Given the description of an element on the screen output the (x, y) to click on. 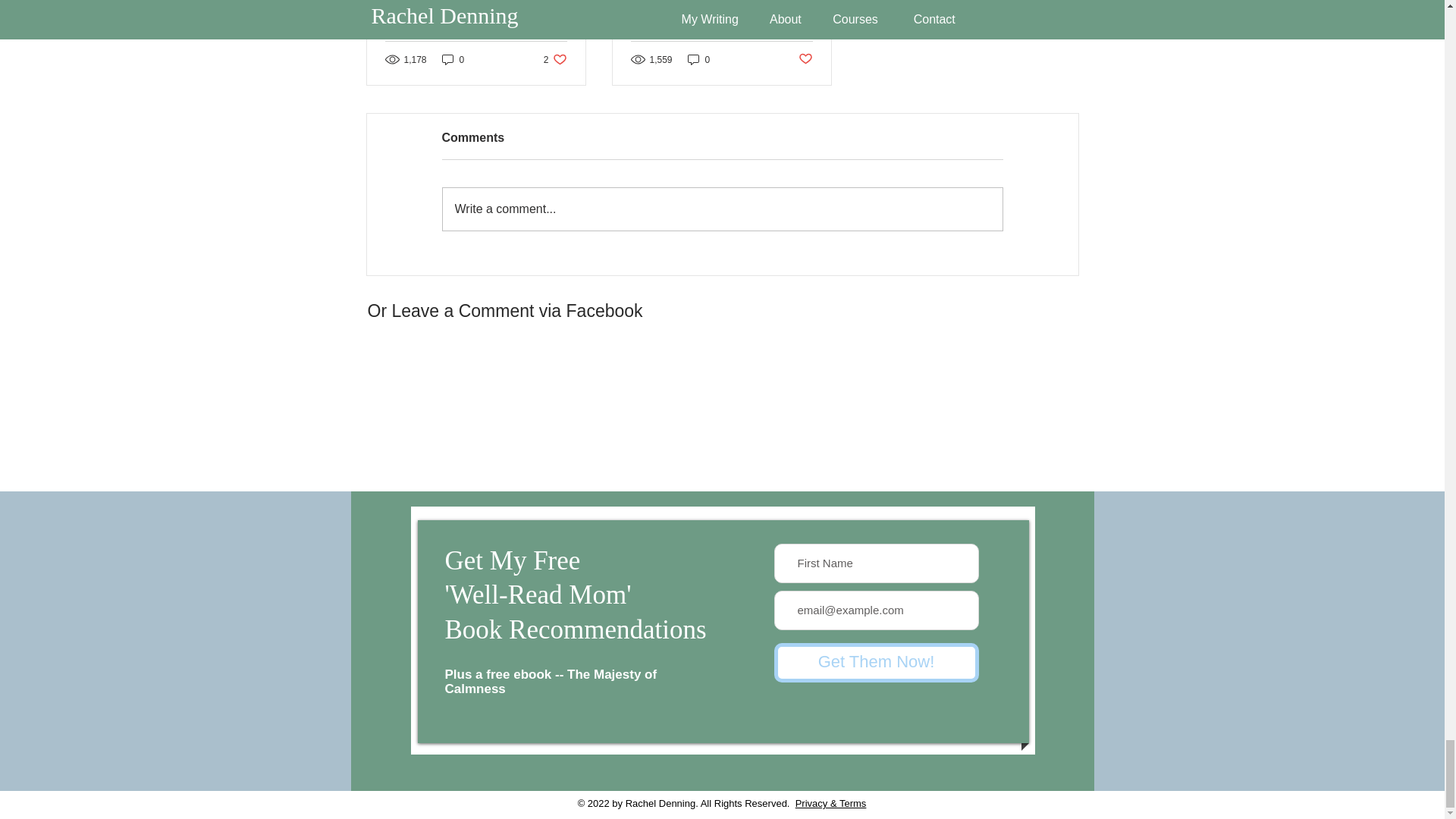
0 (698, 59)
Get Them Now! (555, 59)
Post not marked as liked (875, 662)
You Are Not In Control... Here's What to Do About It (804, 59)
0 (476, 11)
Write a comment... (453, 59)
